Given the description of an element on the screen output the (x, y) to click on. 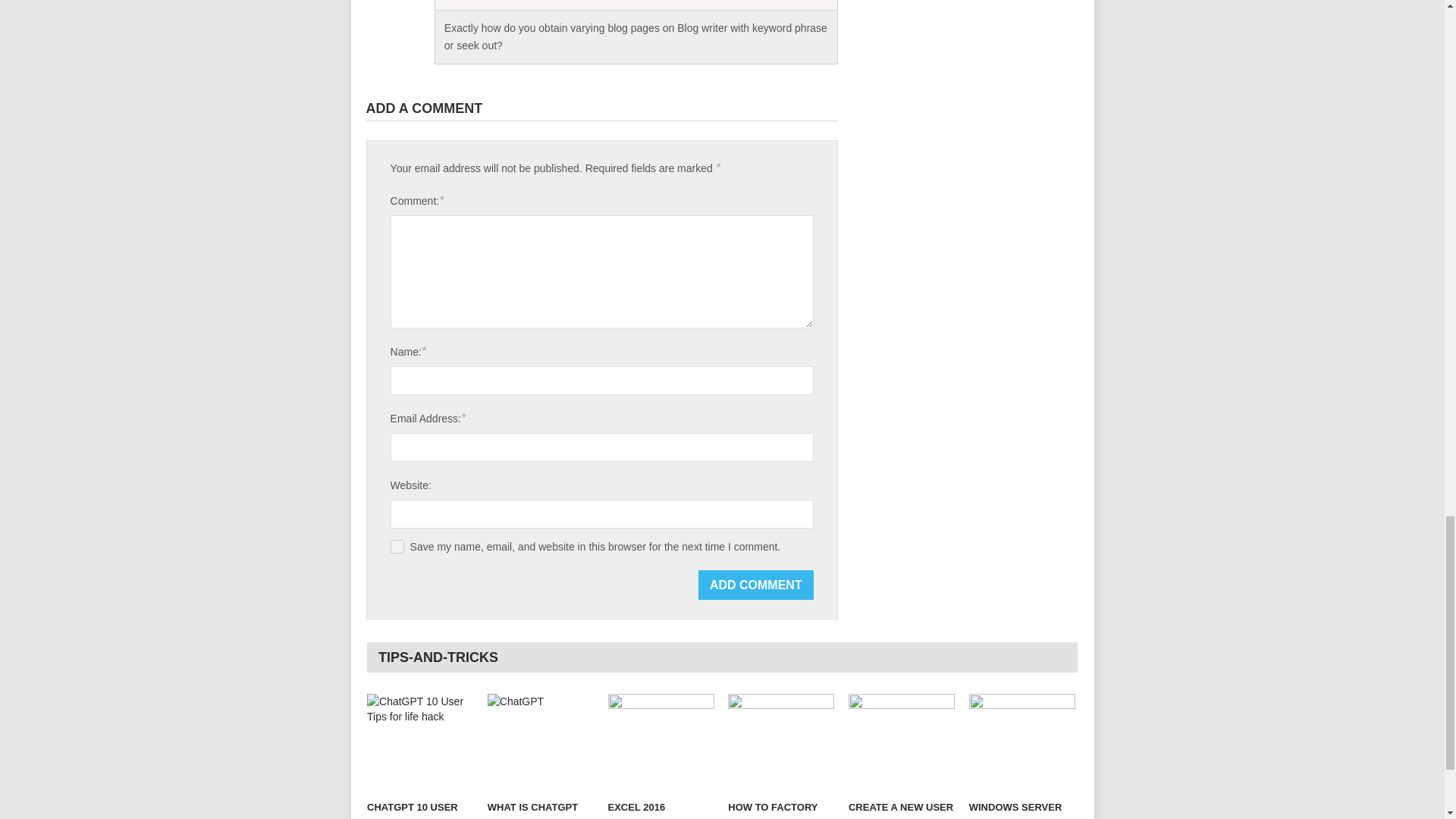
yes (397, 546)
Add Comment (755, 584)
